Given the description of an element on the screen output the (x, y) to click on. 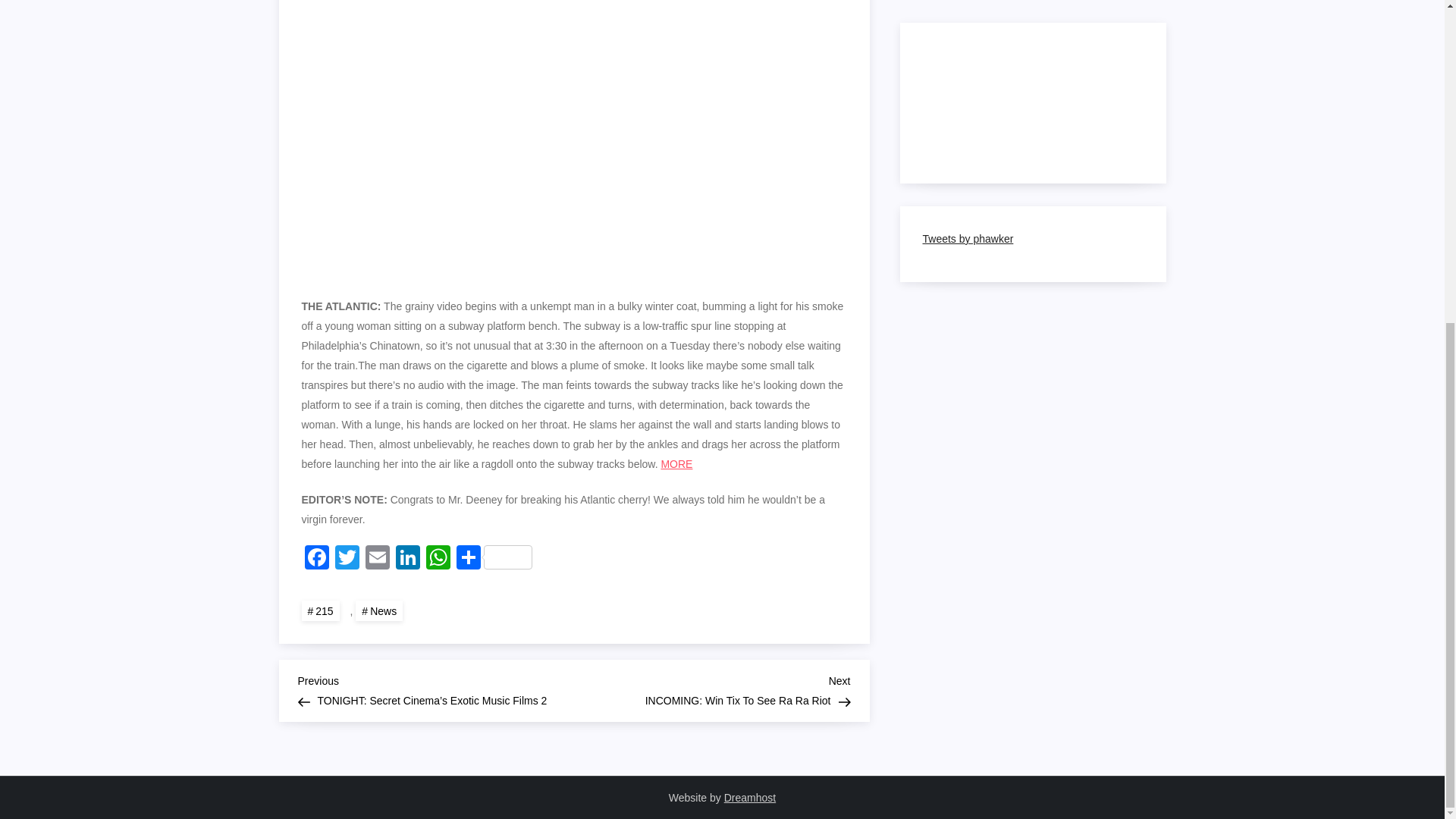
LinkedIn (408, 559)
Email (377, 559)
Twitter (346, 559)
Dreamhost (749, 797)
WhatsApp (437, 559)
MORE (677, 463)
Facebook (316, 559)
Twitter (711, 688)
News (346, 559)
